Given the description of an element on the screen output the (x, y) to click on. 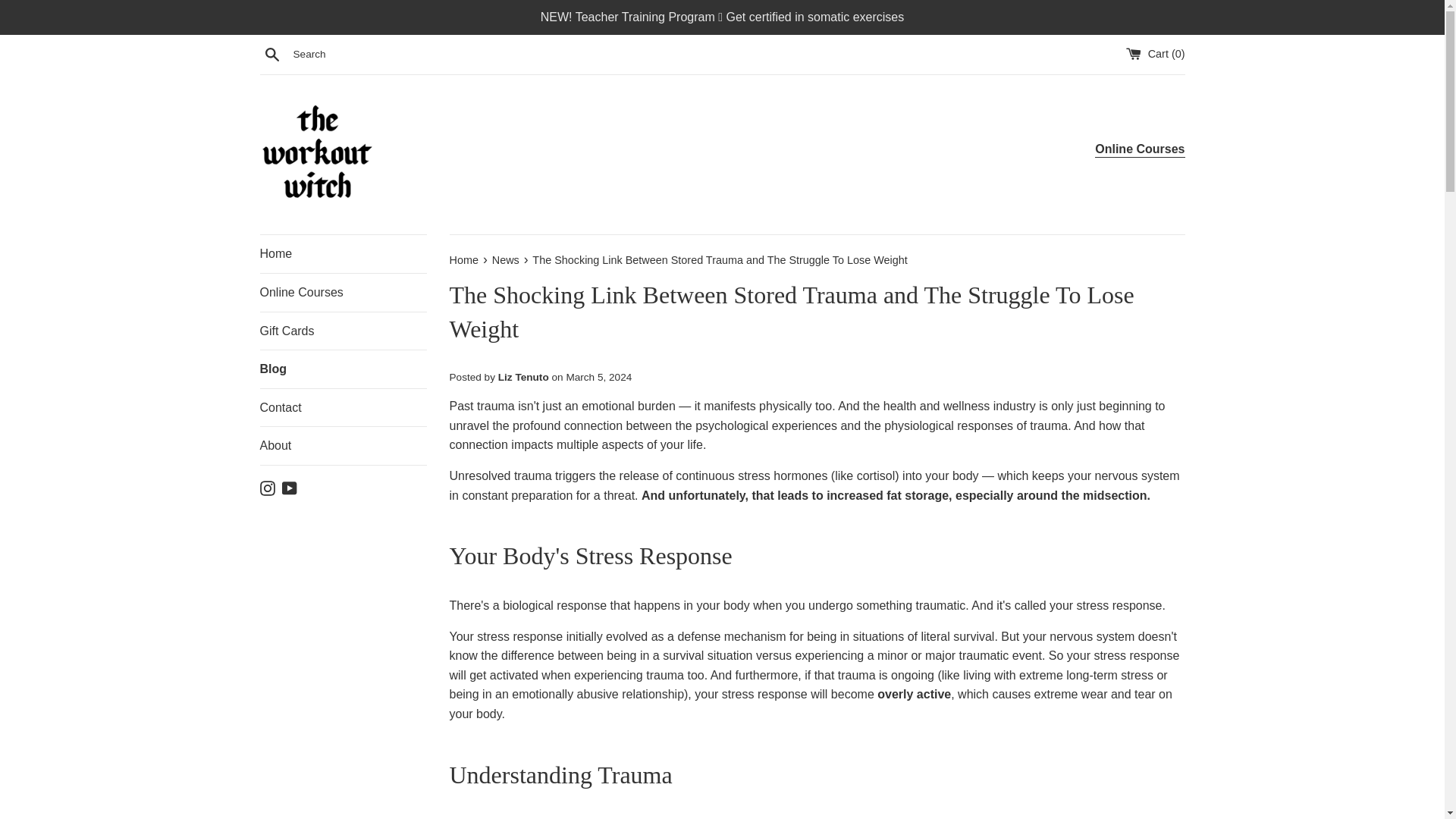
News (507, 259)
Home (464, 259)
Instagram (267, 486)
The Workout Witch on Instagram (267, 486)
Online Courses (342, 292)
YouTube (289, 486)
Gift Cards (342, 331)
About (342, 445)
Home (342, 253)
The Workout Witch on YouTube (289, 486)
